Given the description of an element on the screen output the (x, y) to click on. 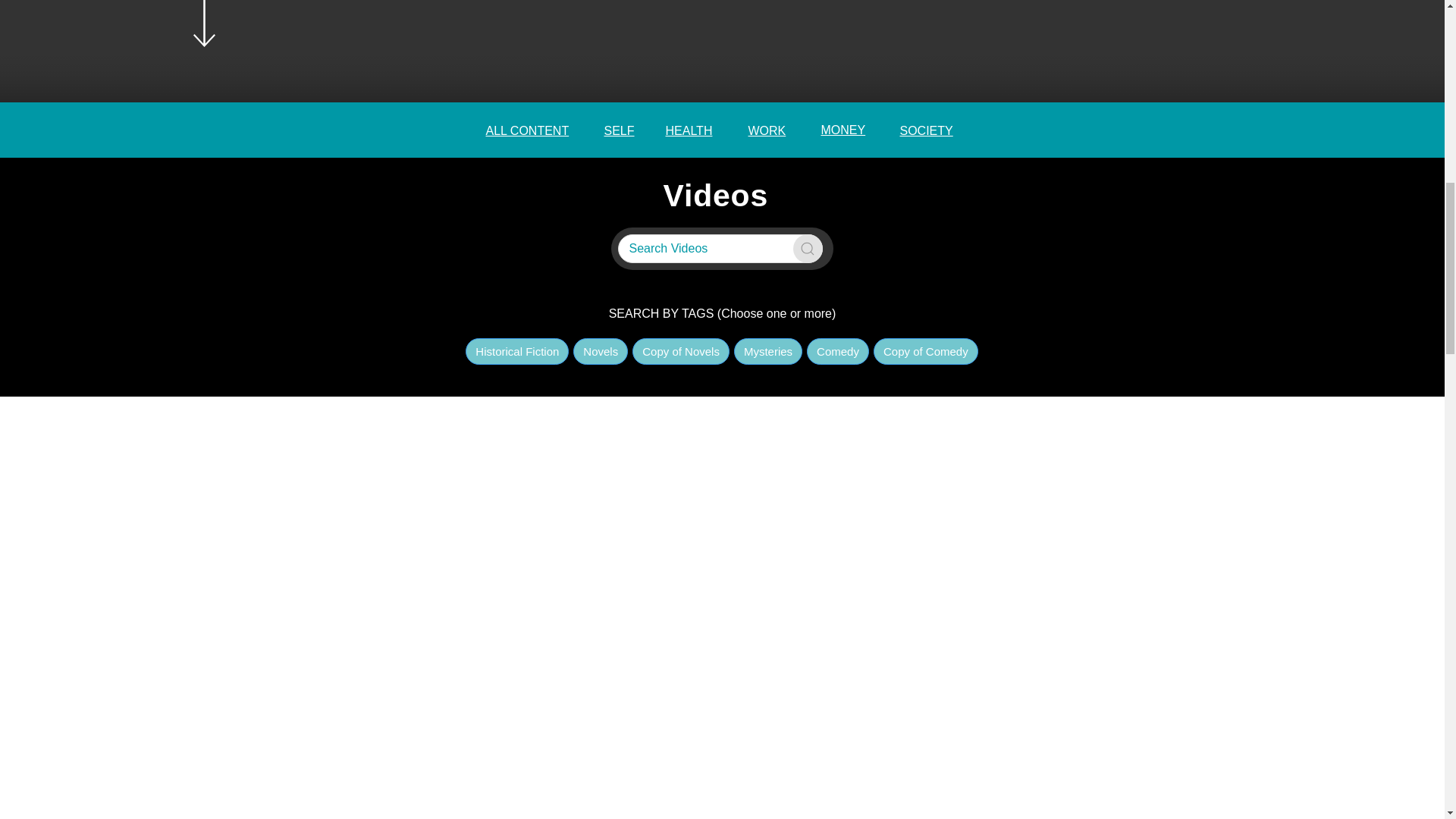
SOCIETY (925, 130)
HEALTH (689, 130)
WORK (767, 130)
ALL CONTENT (526, 130)
MONEY (842, 129)
SELF (618, 130)
